Given the description of an element on the screen output the (x, y) to click on. 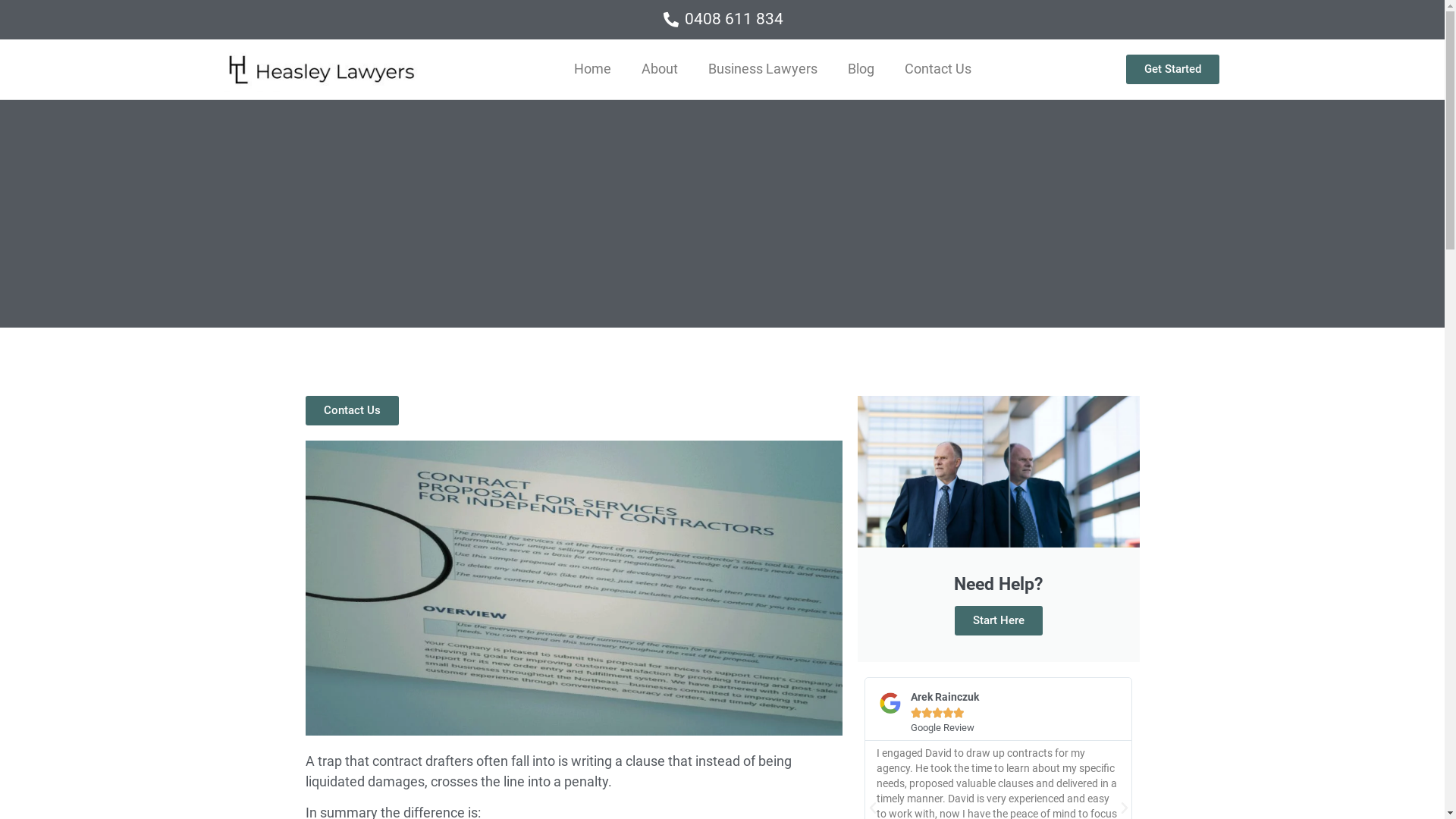
Blog Element type: text (860, 68)
Need Help?
Start Here Element type: text (997, 528)
About Element type: text (659, 68)
Get Started Element type: text (1172, 69)
Home Element type: text (592, 68)
Contact Us Element type: text (351, 410)
Business Lawyers Element type: text (762, 68)
0408 611 834 Element type: text (721, 19)
Contact Us Element type: text (937, 68)
